Given the description of an element on the screen output the (x, y) to click on. 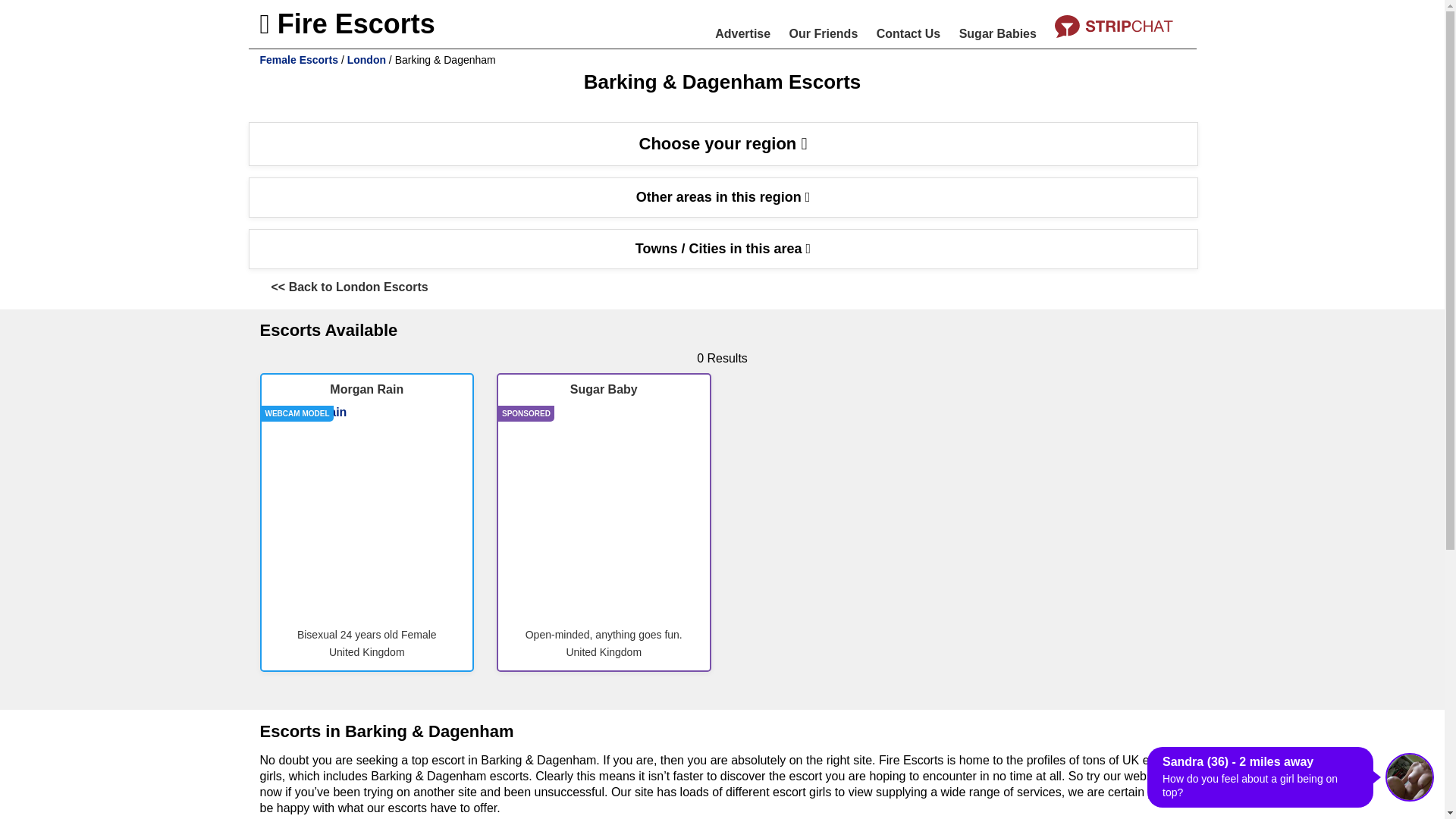
Female Escorts (298, 60)
London escorts (366, 60)
Our Friends (823, 33)
London (366, 60)
Sugar Babies (997, 33)
Advertise (742, 33)
Contact Us (908, 33)
